Given the description of an element on the screen output the (x, y) to click on. 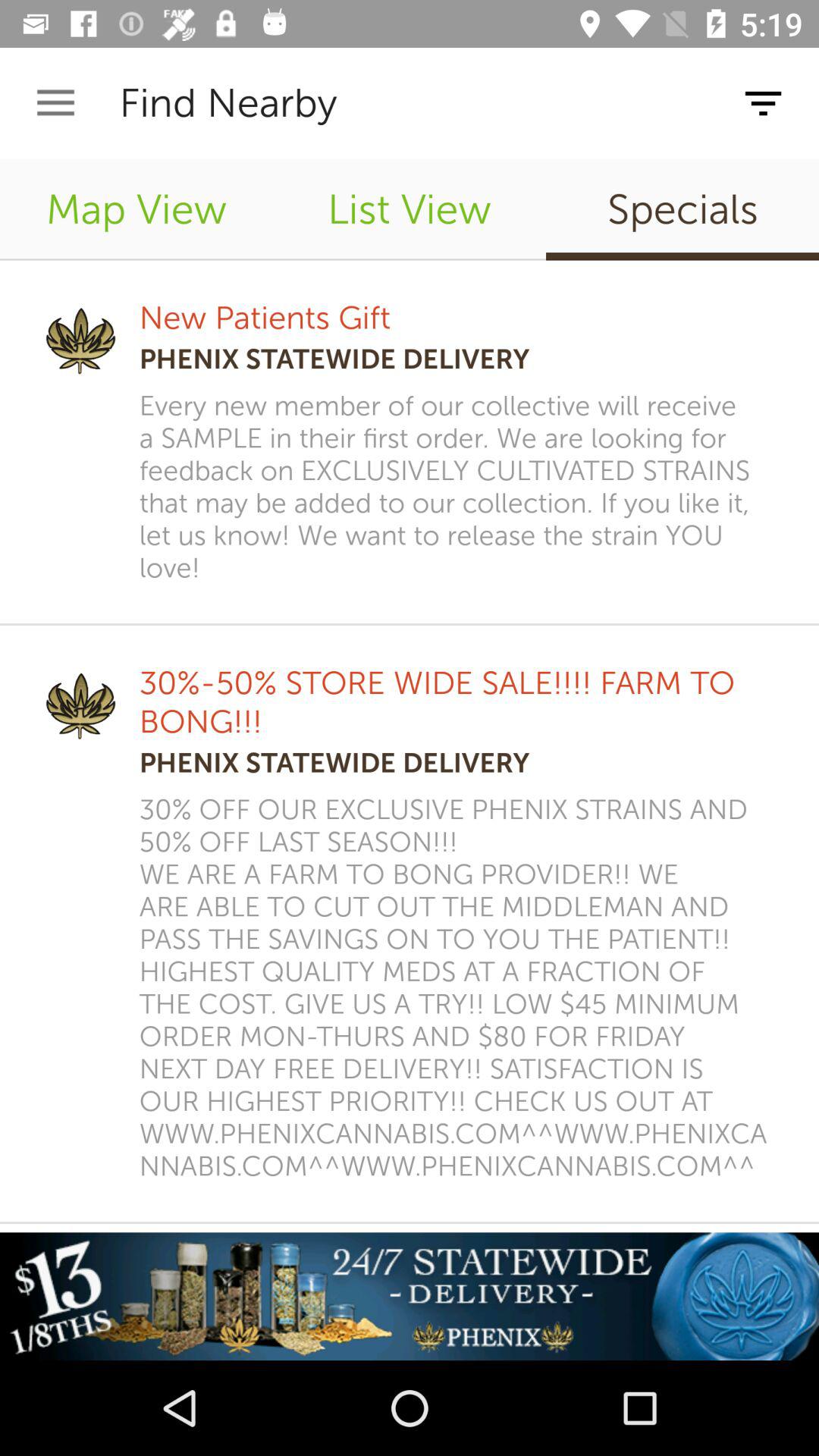
launch the every new member icon (459, 486)
